Given the description of an element on the screen output the (x, y) to click on. 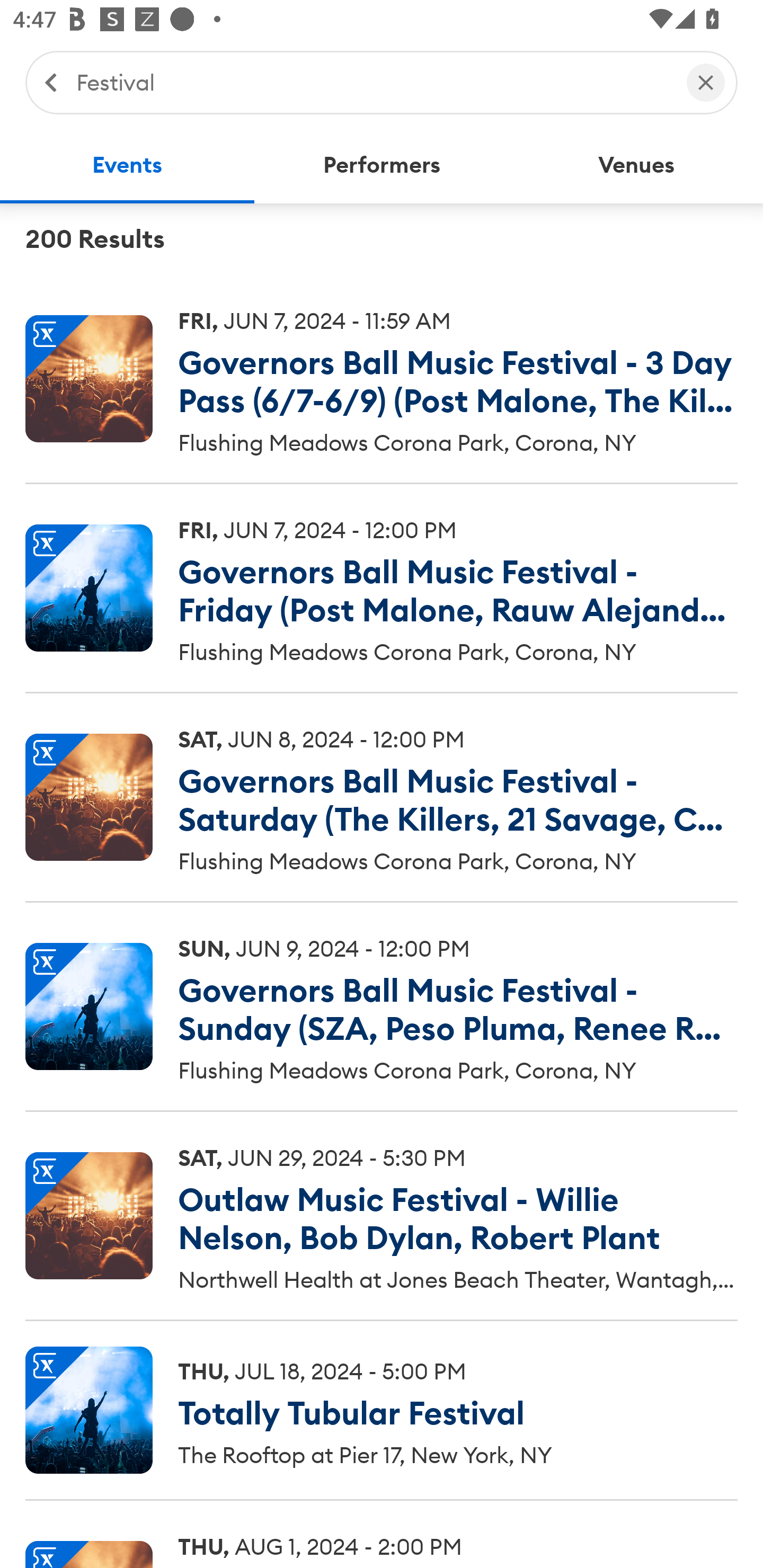
Festival (371, 81)
Clear Search (705, 81)
Performers (381, 165)
Venues (635, 165)
